Given the description of an element on the screen output the (x, y) to click on. 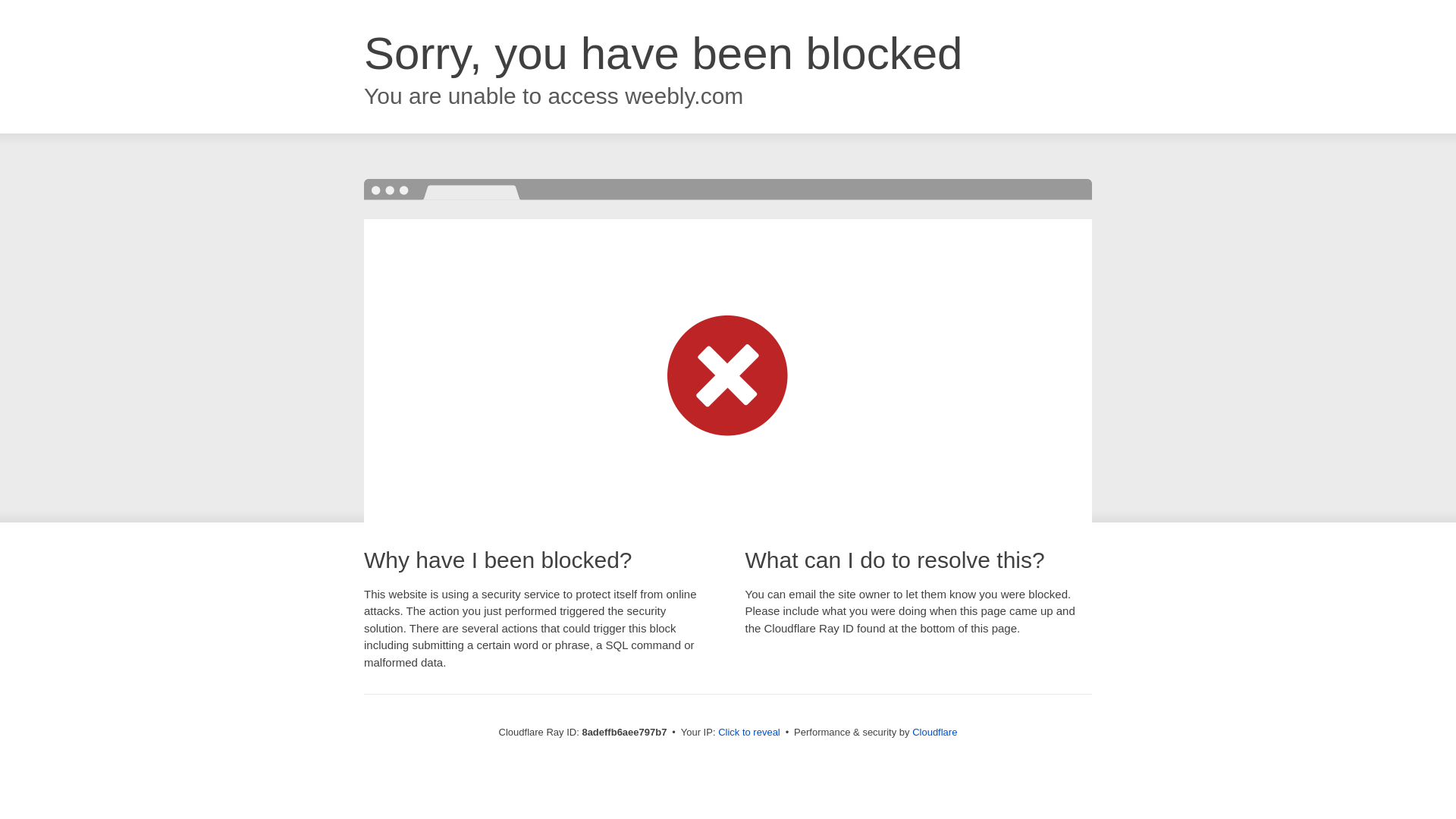
Click to reveal (748, 732)
Cloudflare (934, 731)
